Given the description of an element on the screen output the (x, y) to click on. 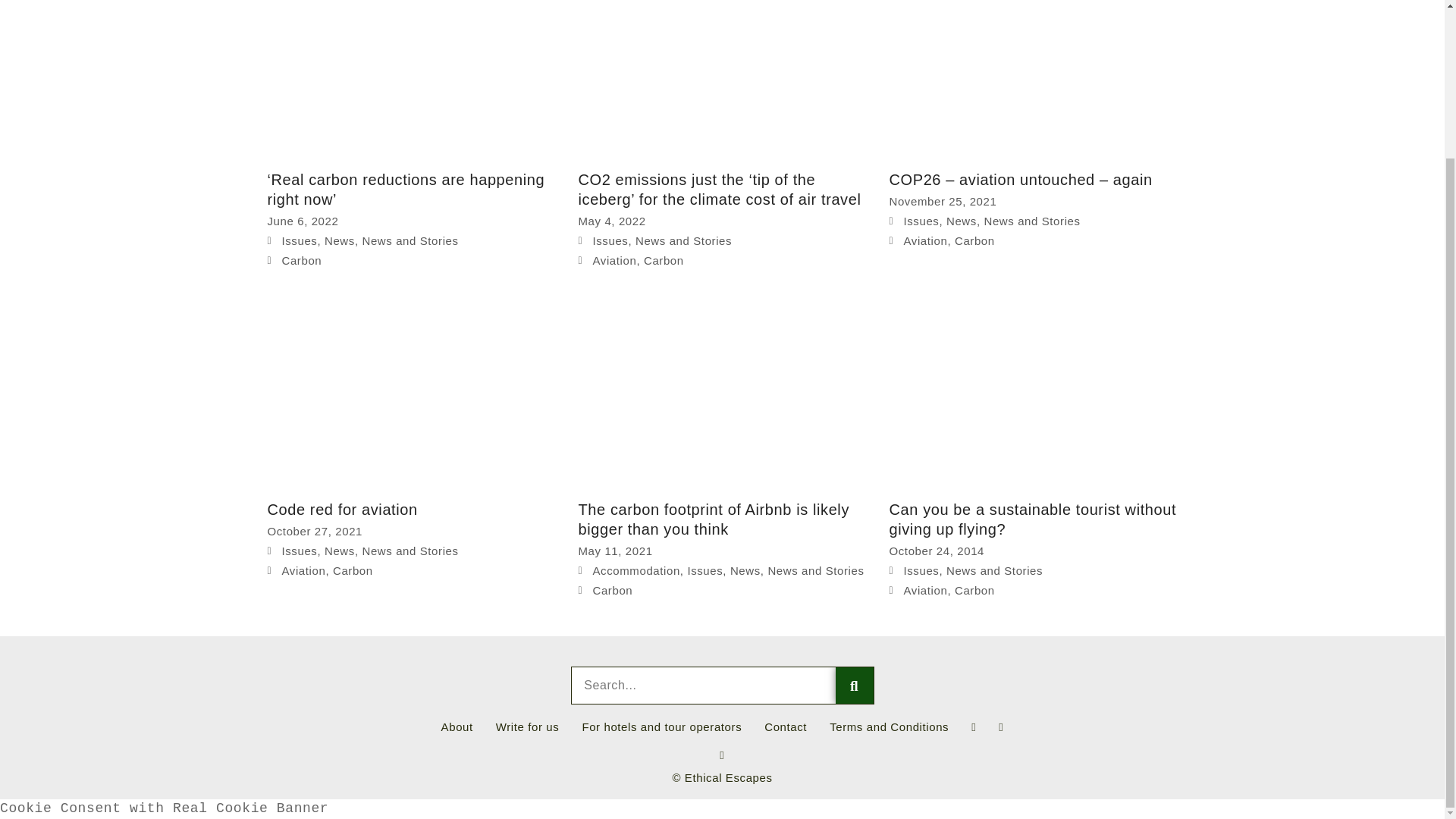
News and Stories (409, 240)
Issues (299, 240)
Carbon (301, 259)
News (339, 240)
June 6, 2022 (301, 220)
